Given the description of an element on the screen output the (x, y) to click on. 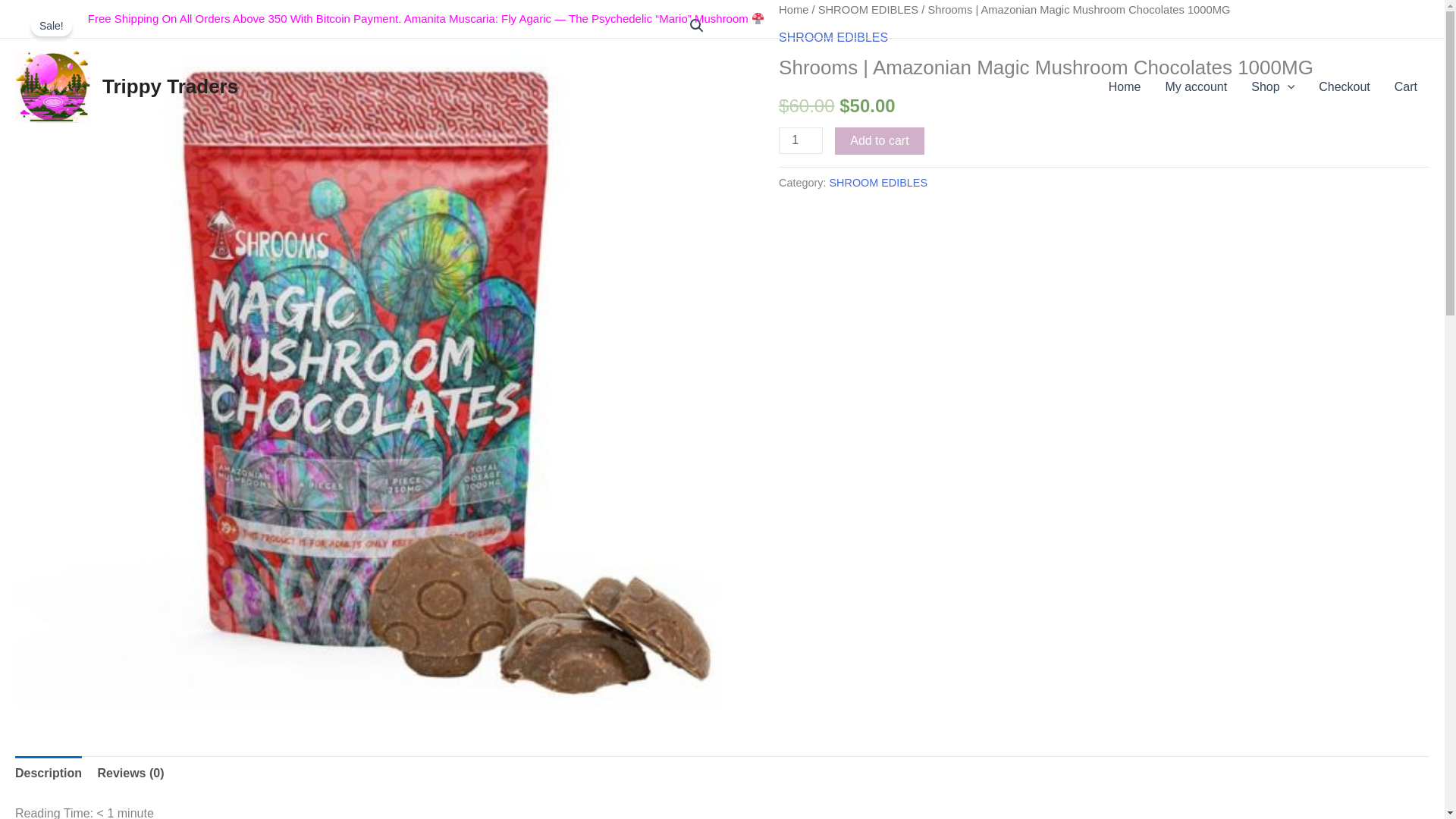
Home (793, 9)
SHROOM EDIBLES (868, 9)
My account (1196, 86)
Checkout (1343, 86)
Shop (1272, 86)
Trippy Traders (169, 86)
1 (800, 140)
Home (1124, 86)
